Given the description of an element on the screen output the (x, y) to click on. 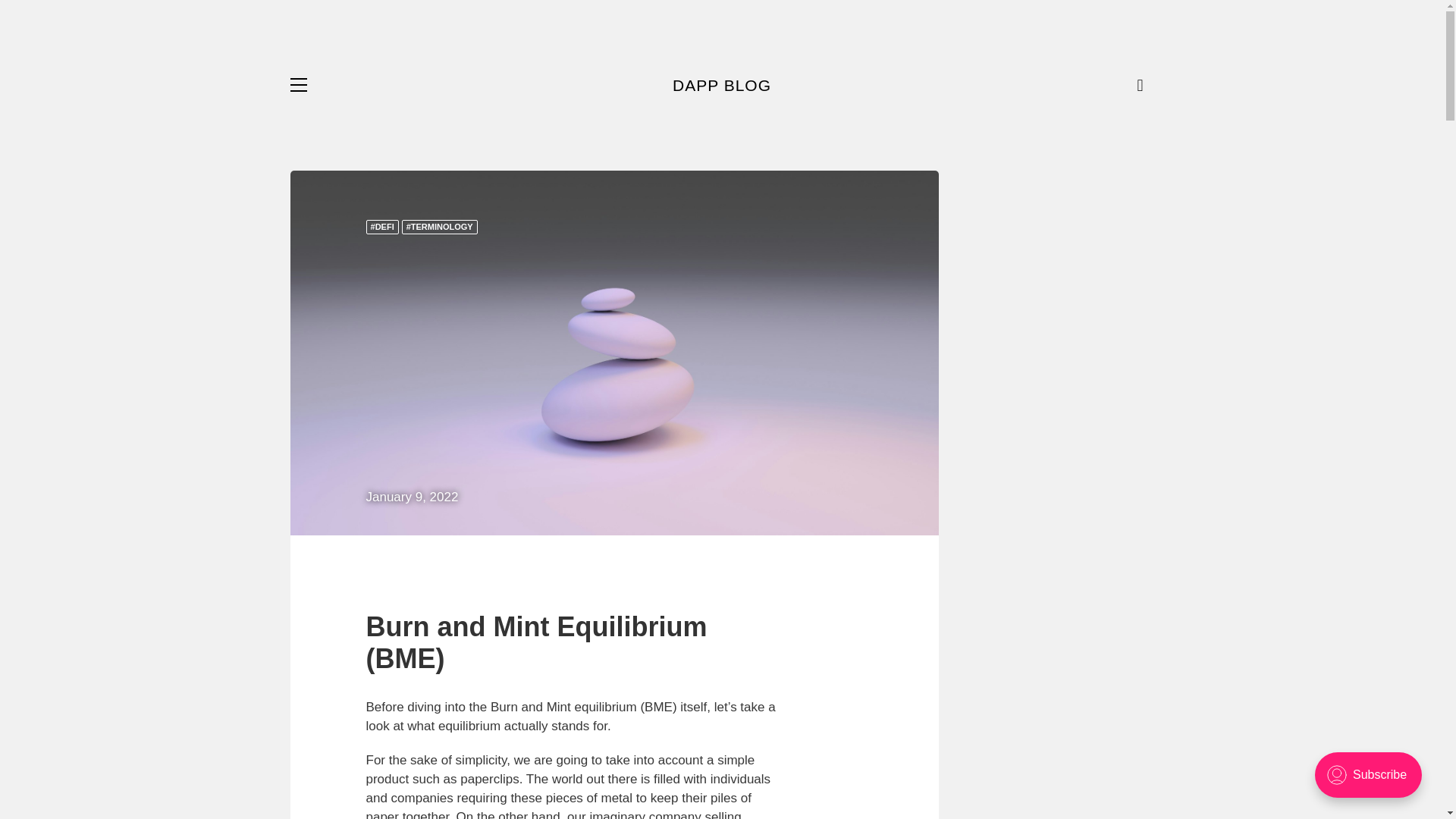
Search (1145, 85)
DAPP BLOG (721, 85)
DeFi (381, 227)
Menu (297, 85)
Terminology (439, 227)
DEFI (381, 227)
TERMINOLOGY (439, 227)
DAPP BLOG (721, 85)
